Given the description of an element on the screen output the (x, y) to click on. 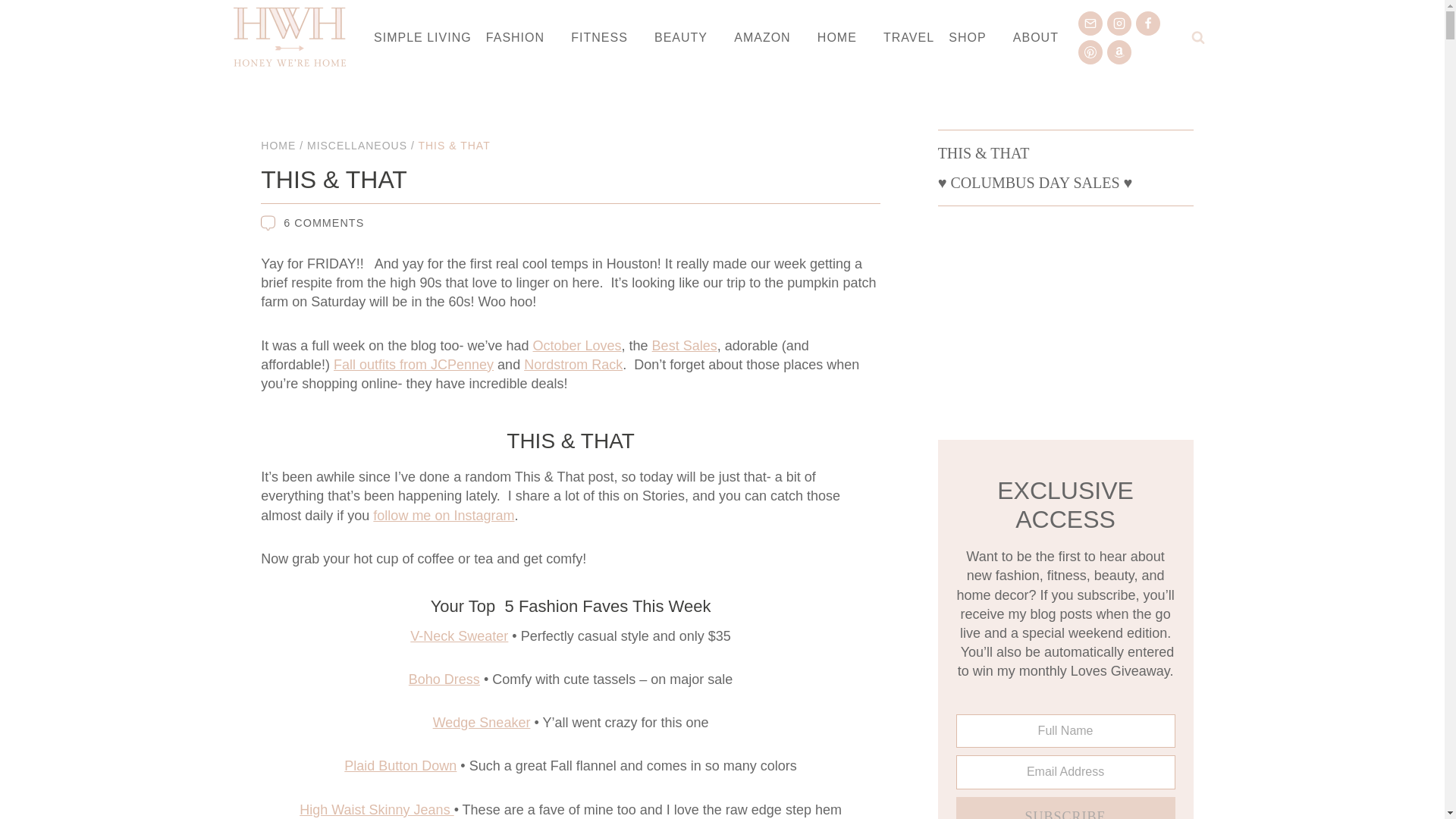
SIMPLE LIVING (422, 38)
SHOP (974, 38)
AMAZON (768, 38)
TRAVEL (908, 38)
6 COMMENTS (323, 222)
FITNESS (605, 38)
HOME (842, 38)
BEAUTY (686, 38)
FASHION (521, 38)
